Given the description of an element on the screen output the (x, y) to click on. 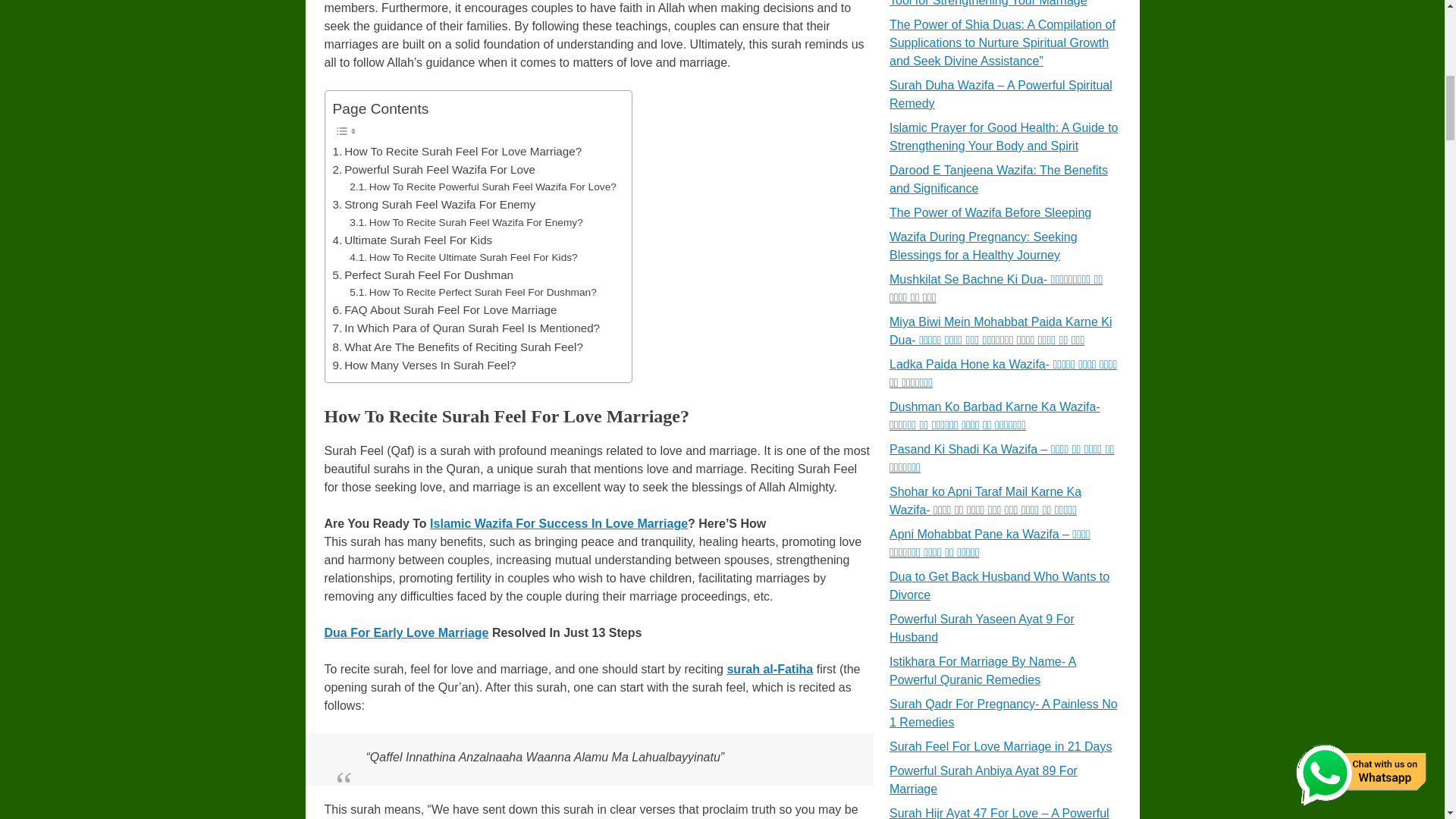
What Are The Benefits of Reciting Surah Feel? (456, 347)
How To Recite Powerful Surah Feel Wazifa For Love? (482, 187)
How To Recite Surah Feel For Love Marriage? (455, 151)
FAQ About Surah Feel For Love Marriage (443, 310)
Powerful Surah Feel Wazifa For Love (433, 169)
How To Recite Perfect Surah Feel For Dushman? (472, 292)
Strong Surah Feel Wazifa For Enemy (433, 204)
How To Recite Ultimate Surah Feel For Kids? (462, 257)
How Many Verses In Surah Feel? (423, 365)
In Which Para of Quran Surah Feel Is Mentioned? (465, 328)
